Given the description of an element on the screen output the (x, y) to click on. 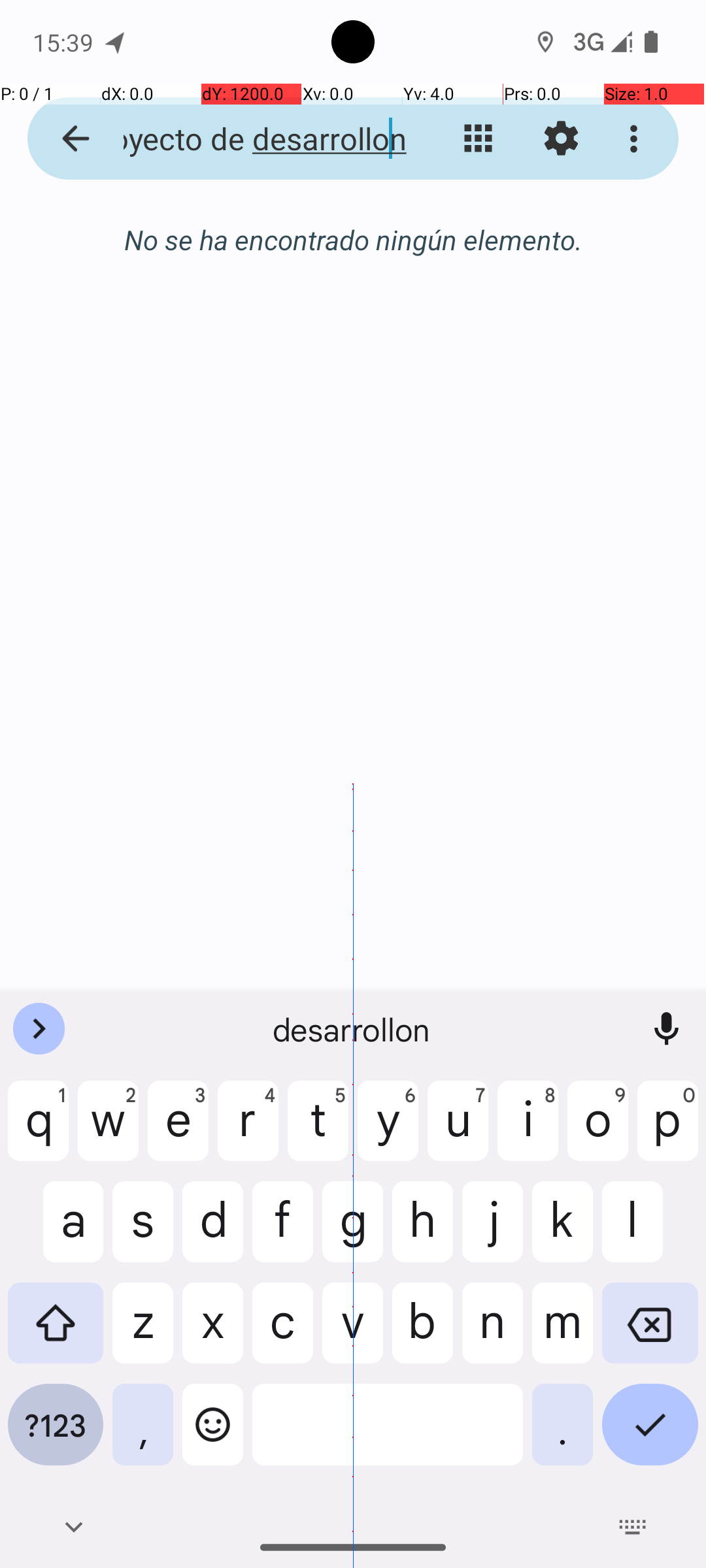
reunion coproyecto de desarrollon el equipo Element type: android.widget.EditText (252, 138)
desarrollon Element type: android.widget.FrameLayout (352, 1028)
15:39 Element type: android.widget.TextView (64, 41)
